Given the description of an element on the screen output the (x, y) to click on. 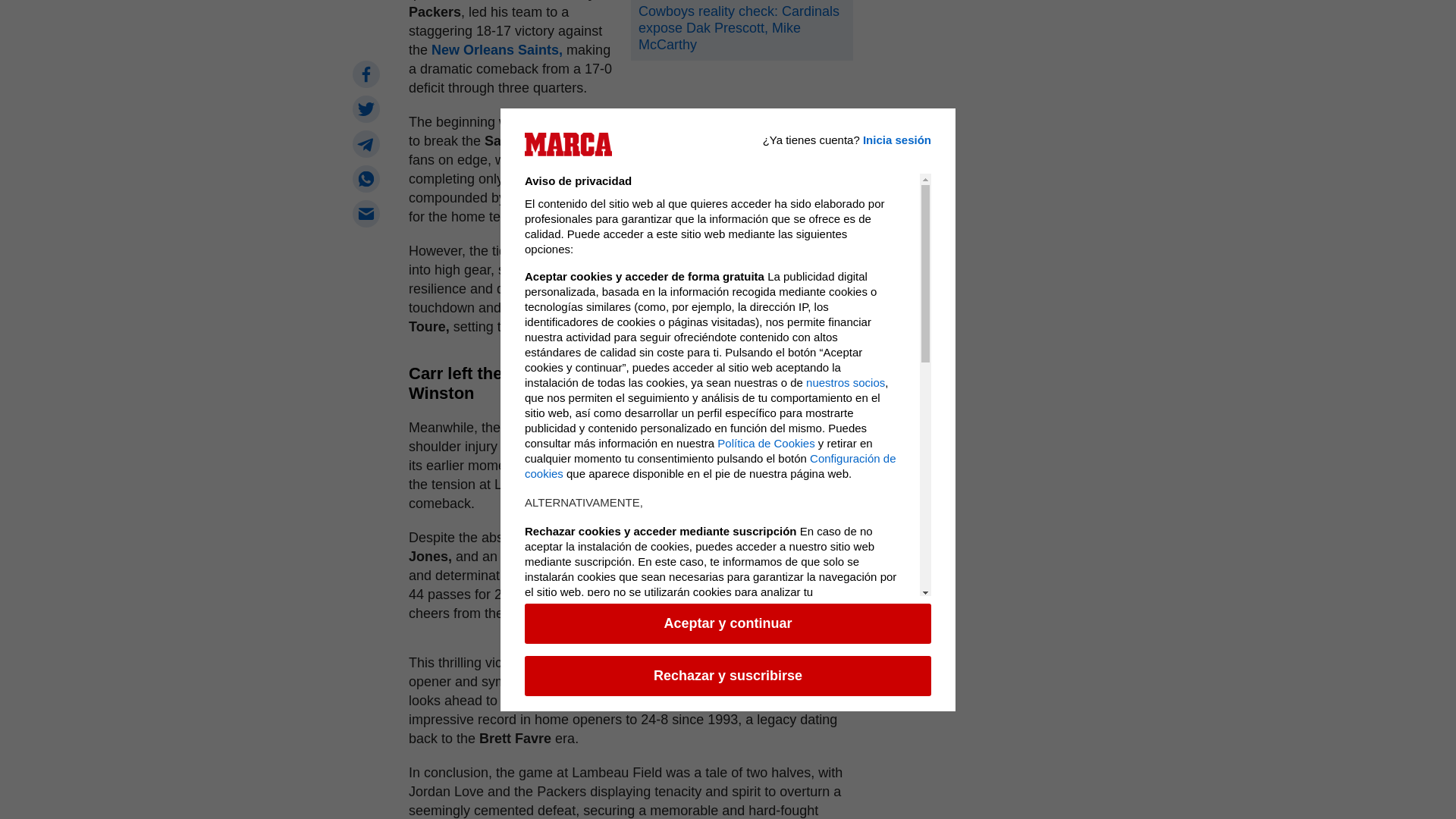
Ver nuestros 935 socios (710, 278)
